Given the description of an element on the screen output the (x, y) to click on. 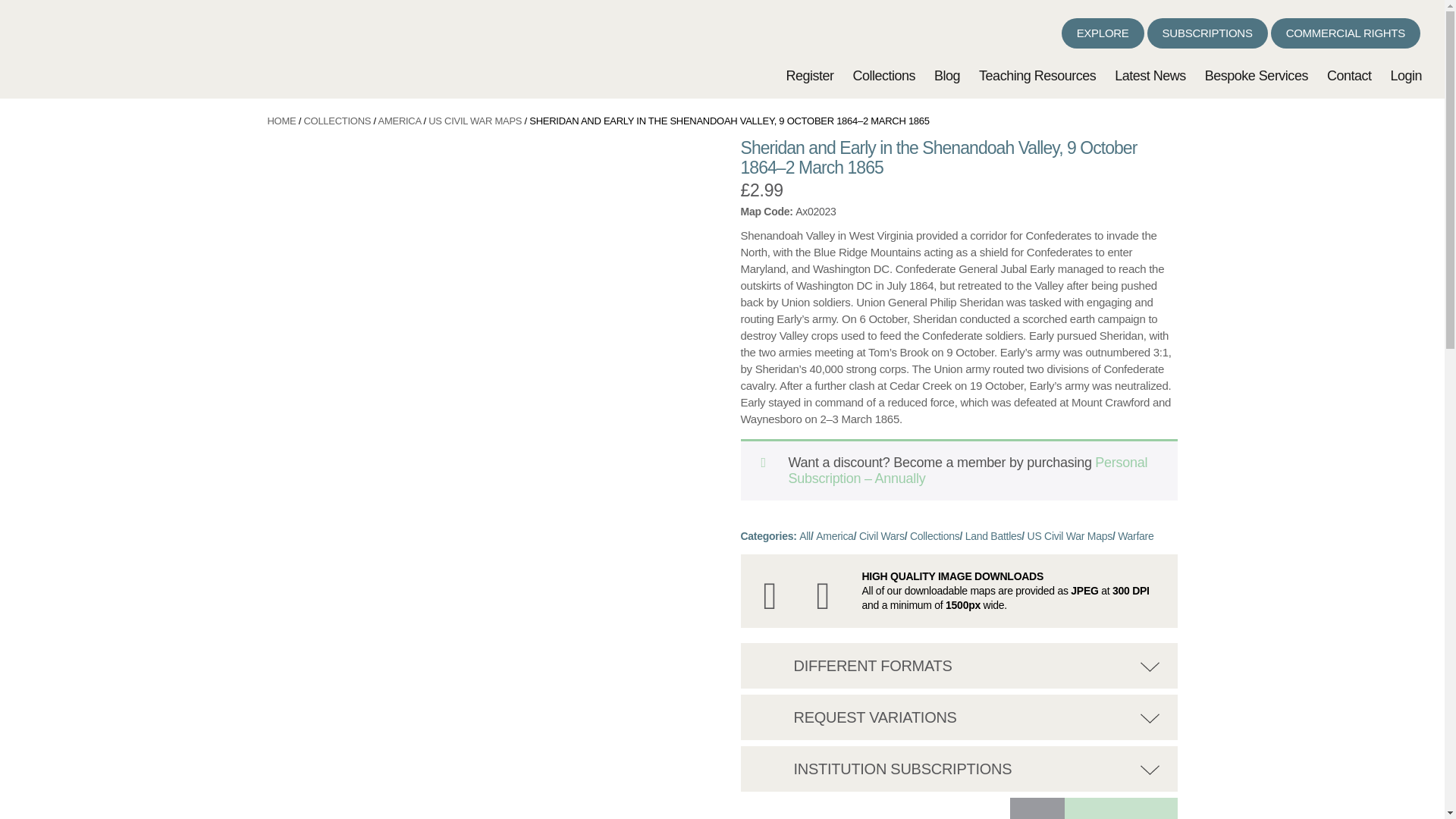
AMERICA (400, 120)
Collections (934, 535)
Collections (883, 76)
Institution Subscriptions (774, 765)
Request Variations (774, 713)
Different Formats (774, 661)
America (834, 535)
COLLECTIONS (336, 120)
Teaching Resources (1037, 76)
EXPLORE (1102, 33)
COMMERCIAL RIGHTS (1346, 33)
SUBSCRIPTIONS (1207, 33)
Land Battles (993, 535)
Contact (1348, 76)
Login (1406, 76)
